Given the description of an element on the screen output the (x, y) to click on. 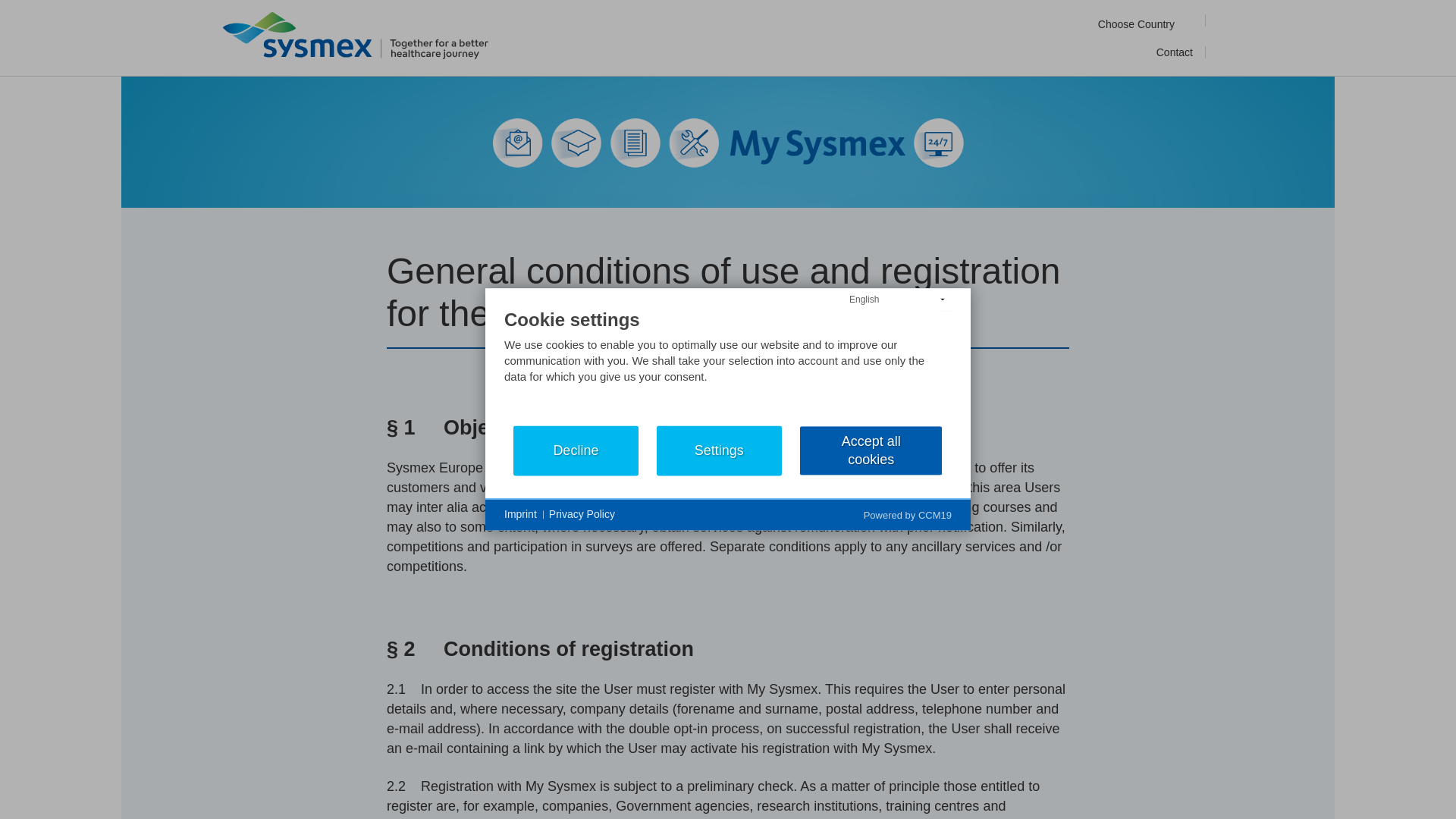
Imprint (520, 514)
Choose Country (1145, 25)
Contact (1174, 51)
Accept all cookies (870, 450)
Powered by CCM19 (907, 514)
Privacy Policy (581, 514)
Decline (576, 450)
Settings (718, 450)
